Given the description of an element on the screen output the (x, y) to click on. 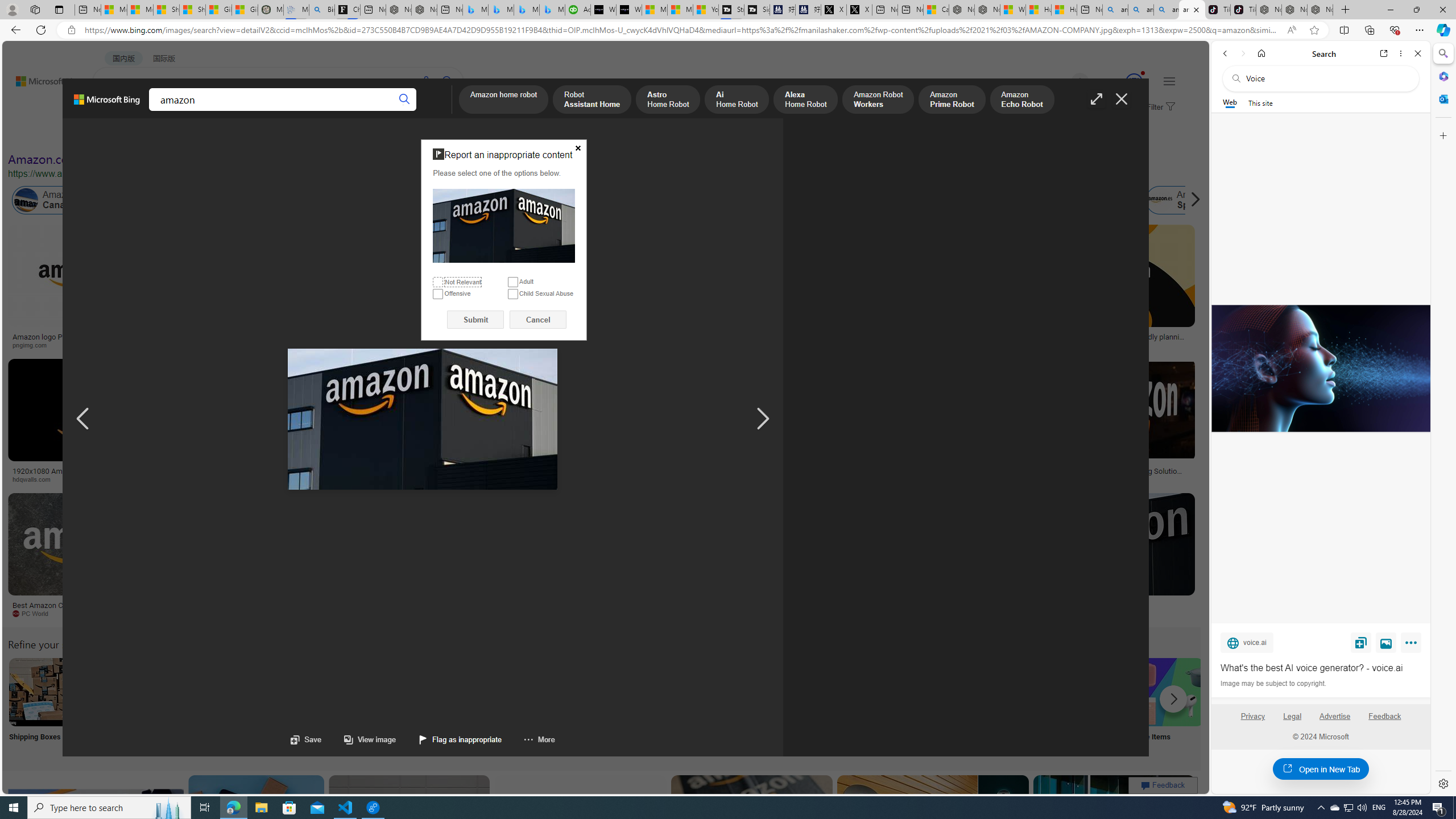
Amazon Shipping Boxes (42, 691)
Jobs Near Me (342, 706)
amazon - Search Images (1191, 9)
MAPS (397, 111)
Class: b_pri_nav_svg (191, 112)
Prime Shopping Online (944, 706)
Privacy (1252, 720)
Amazon Prime Label Prime Label (1018, 706)
Amazon Kids (263, 199)
Amazon Labor Law Violation in California (642, 199)
Amazon Echo Dot 4th Gen (673, 264)
Close image (1121, 99)
